Given the description of an element on the screen output the (x, y) to click on. 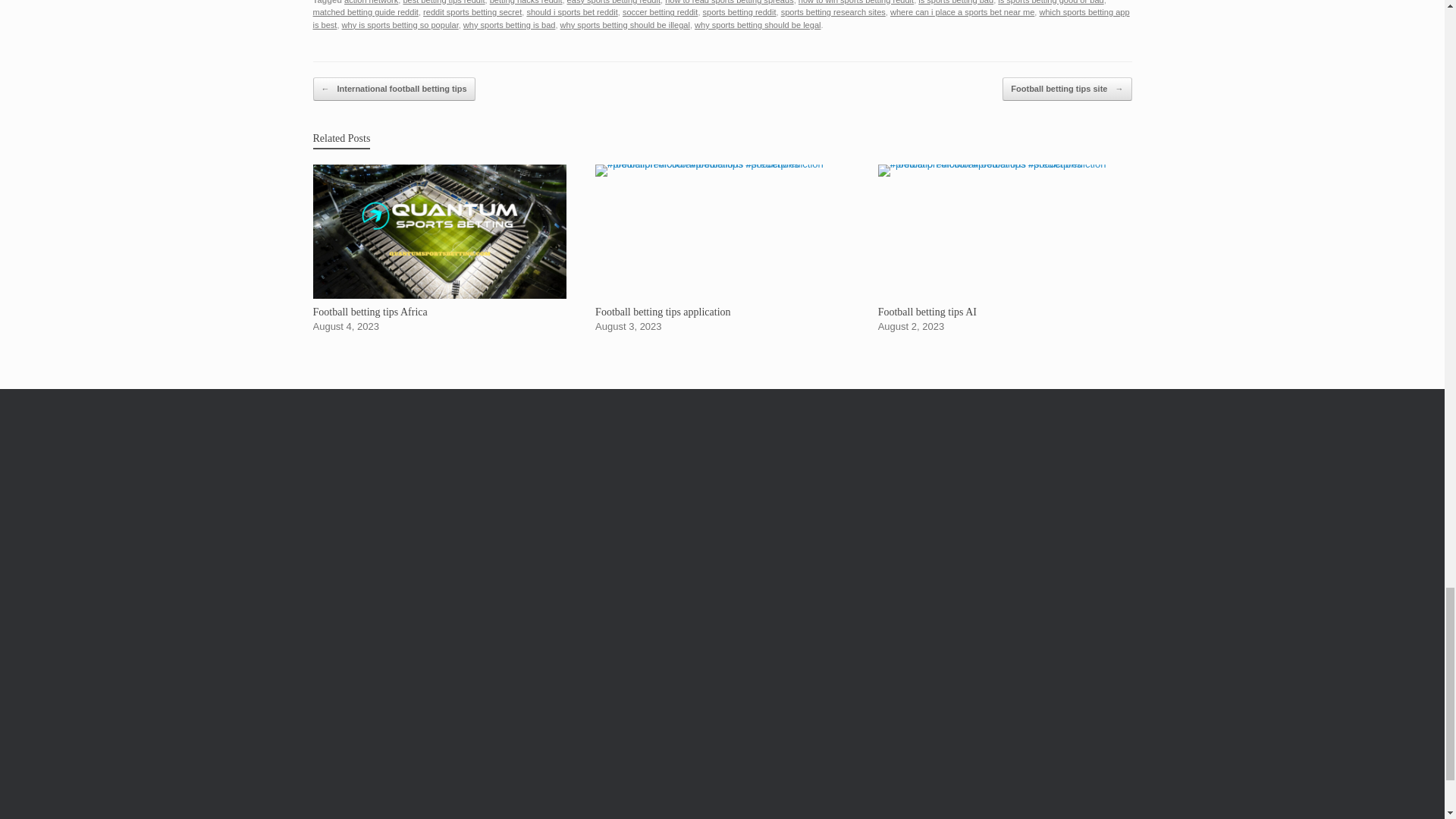
sports betting reddit (739, 11)
best betting tips reddit (443, 2)
reddit sports betting secret (472, 11)
is sports betting bad (955, 2)
matched betting guide reddit (365, 11)
Football betting tips application (721, 248)
Football betting tips Africa (439, 248)
soccer betting reddit (660, 11)
how to win sports betting reddit (855, 2)
easy sports betting reddit (614, 2)
